Given the description of an element on the screen output the (x, y) to click on. 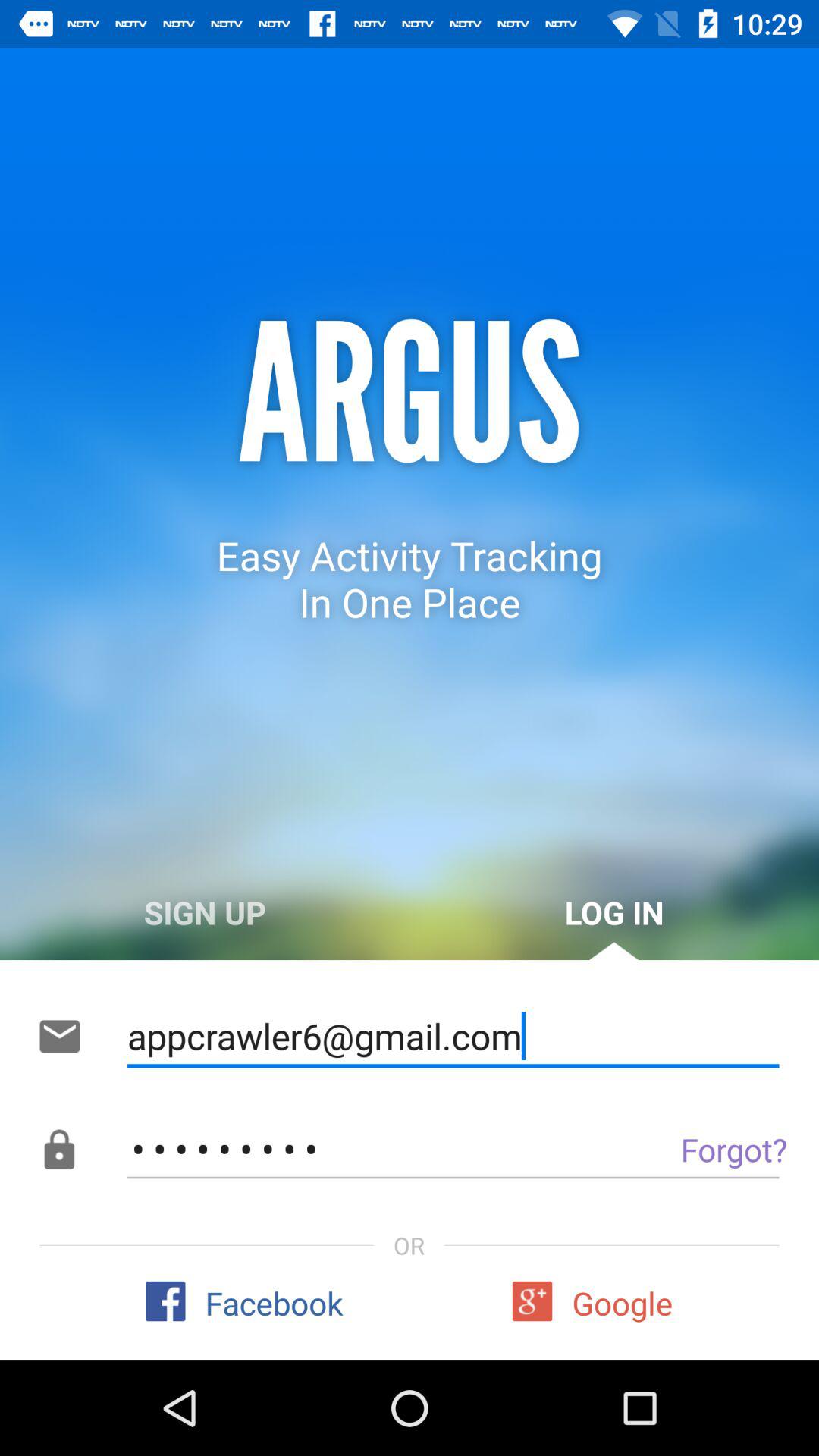
flip until forgot? icon (699, 1149)
